Given the description of an element on the screen output the (x, y) to click on. 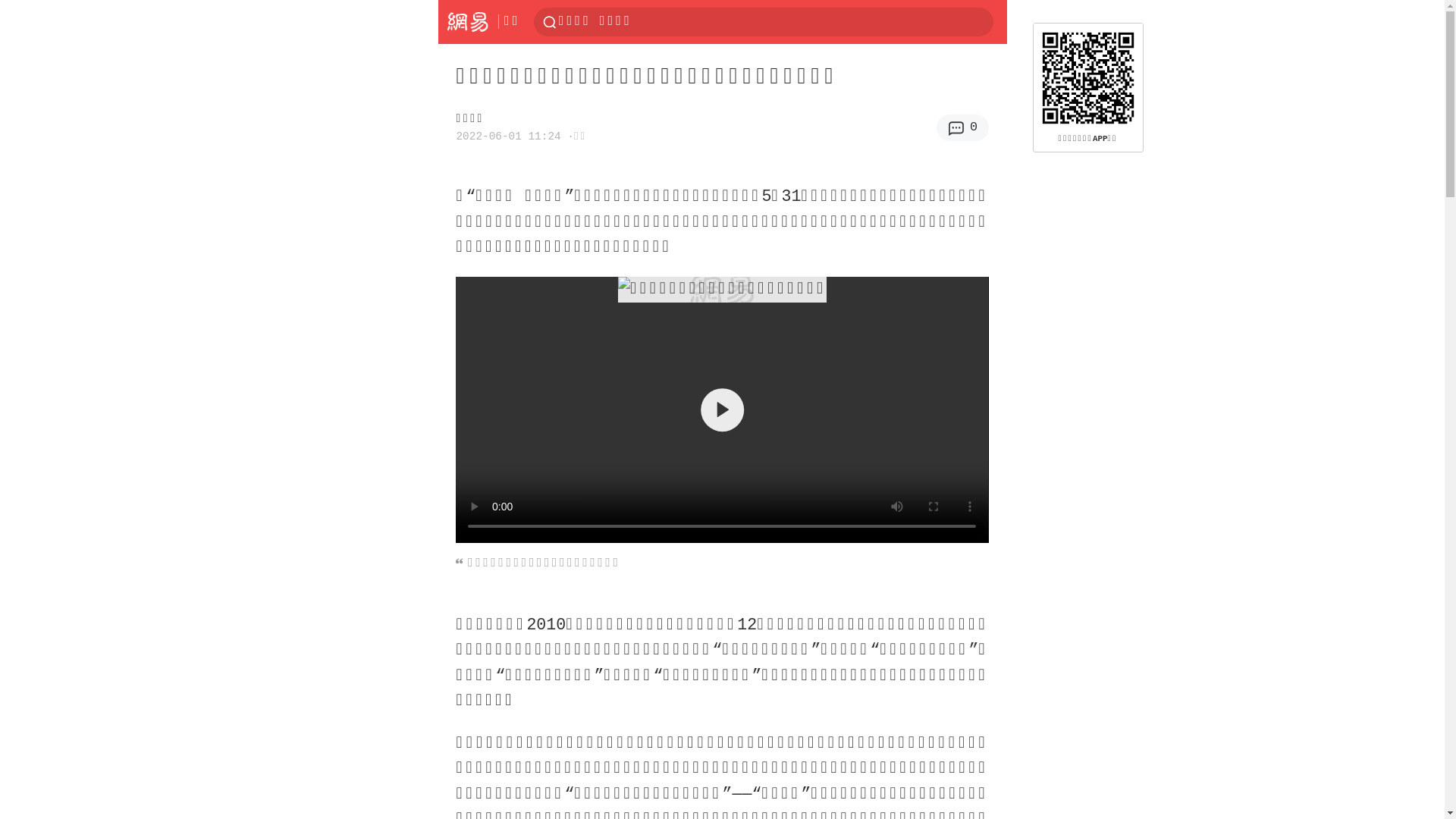
0 Element type: text (962, 127)
